Given the description of an element on the screen output the (x, y) to click on. 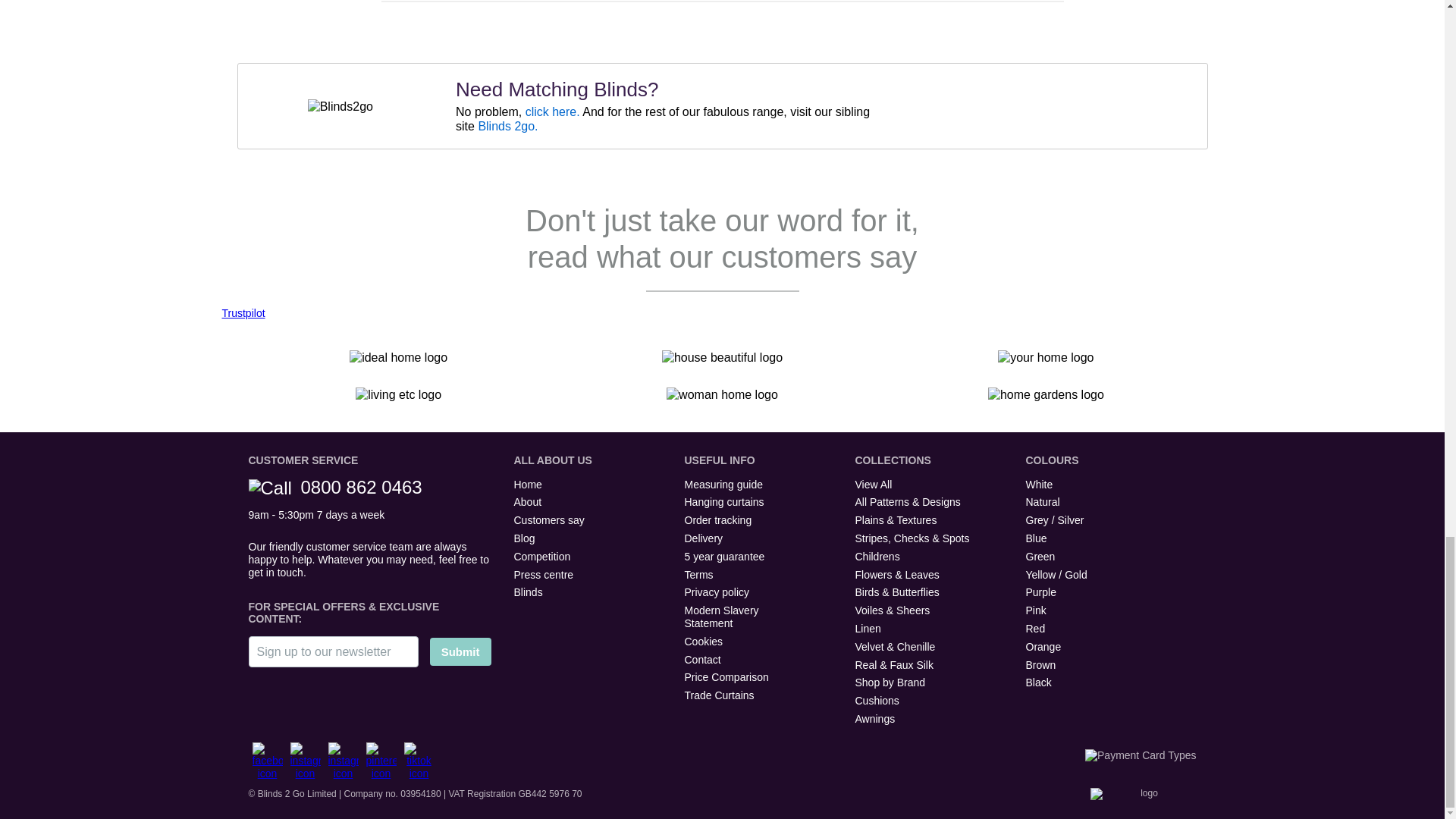
Submit (460, 651)
